Given the description of an element on the screen output the (x, y) to click on. 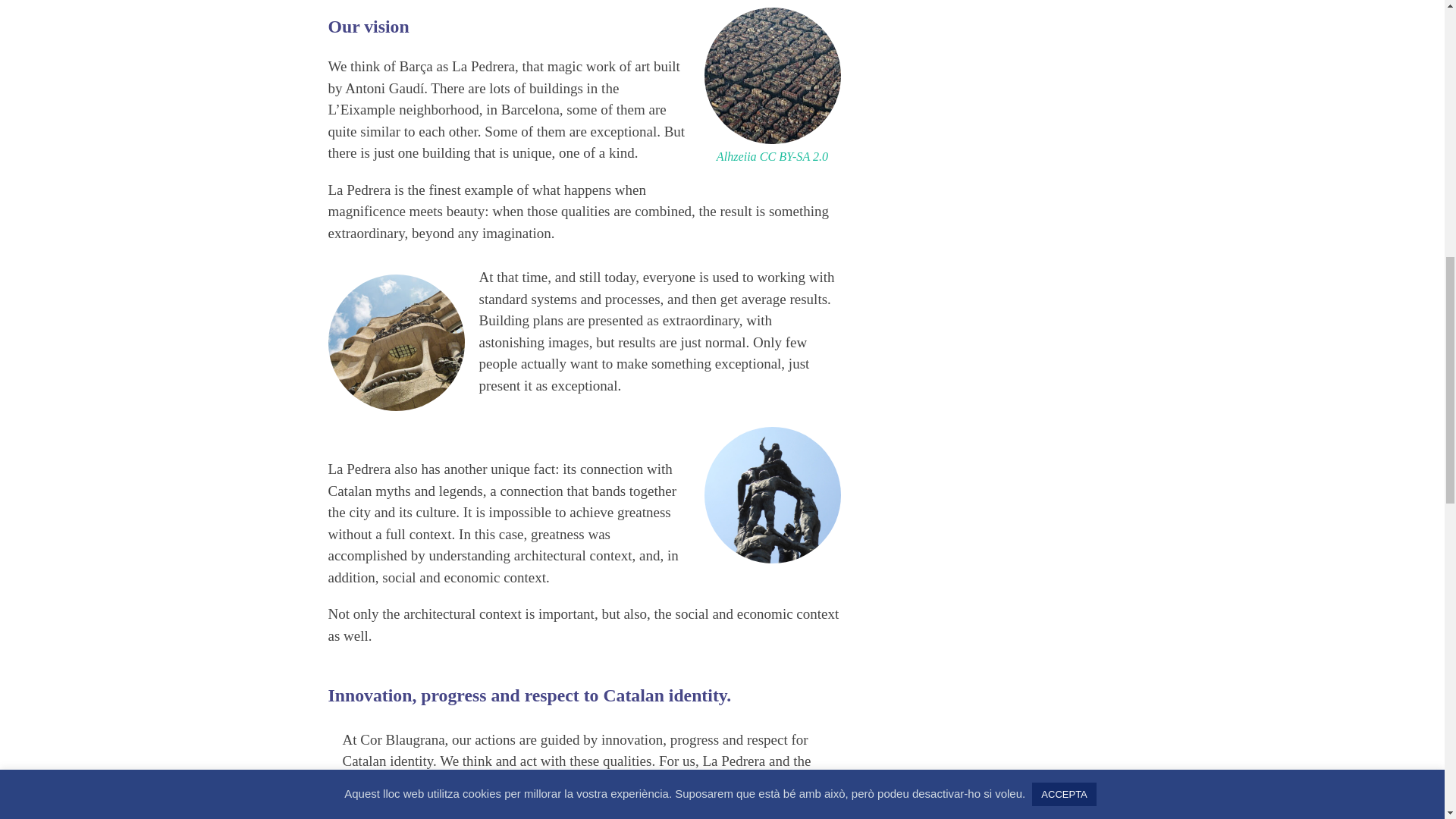
Alhzeiia (736, 155)
CC BY-SA 2.0 (794, 155)
